Given the description of an element on the screen output the (x, y) to click on. 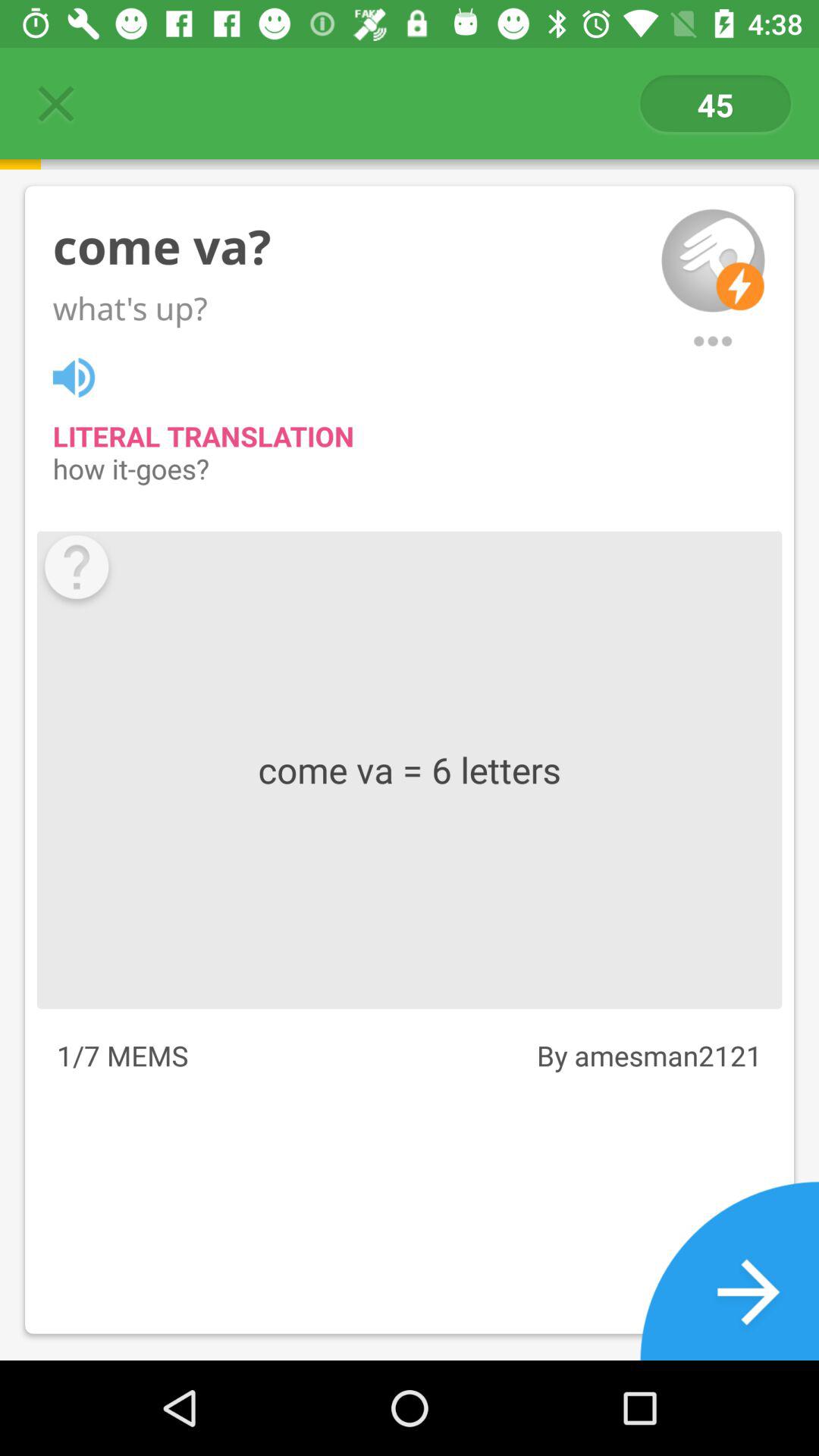
select the setting option (712, 341)
